Given the description of an element on the screen output the (x, y) to click on. 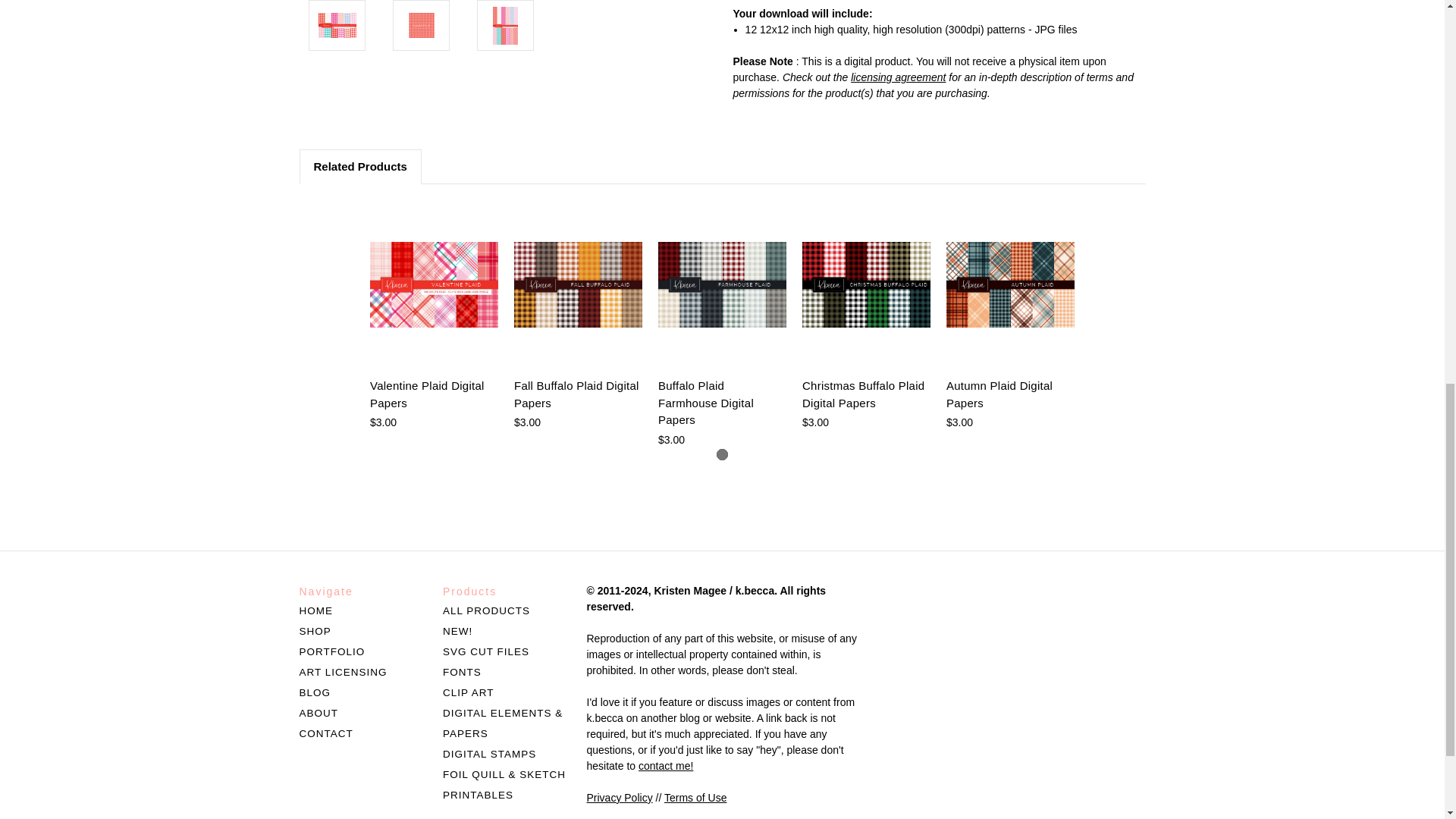
Valentine Buffalo Plaid Digital Papers (422, 25)
Licensing (897, 77)
